Given the description of an element on the screen output the (x, y) to click on. 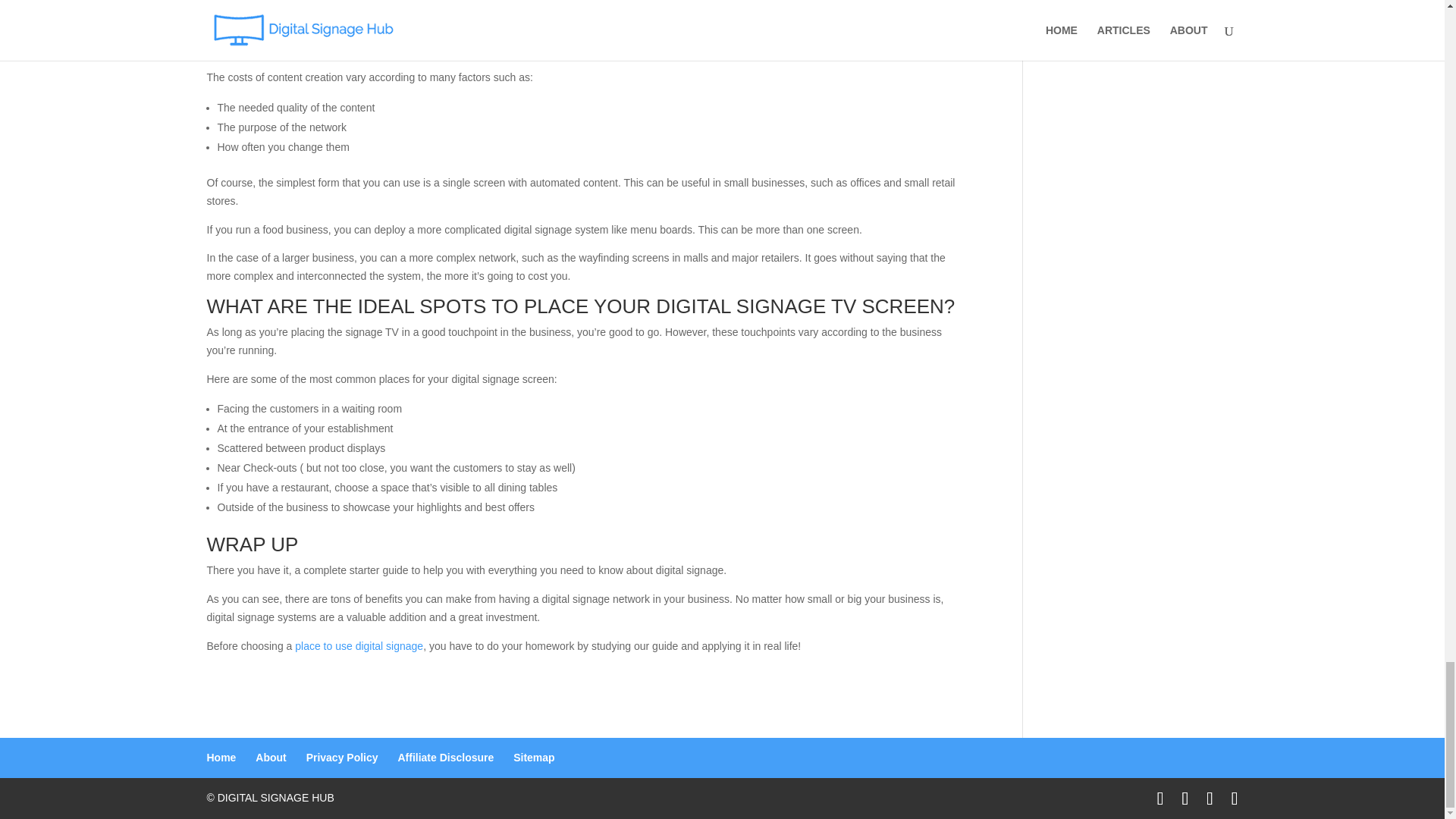
place to use digital signage (359, 645)
About (270, 757)
Affiliate Disclosure (445, 757)
Privacy Policy (341, 757)
Sitemap (533, 757)
Home (220, 757)
